Given the description of an element on the screen output the (x, y) to click on. 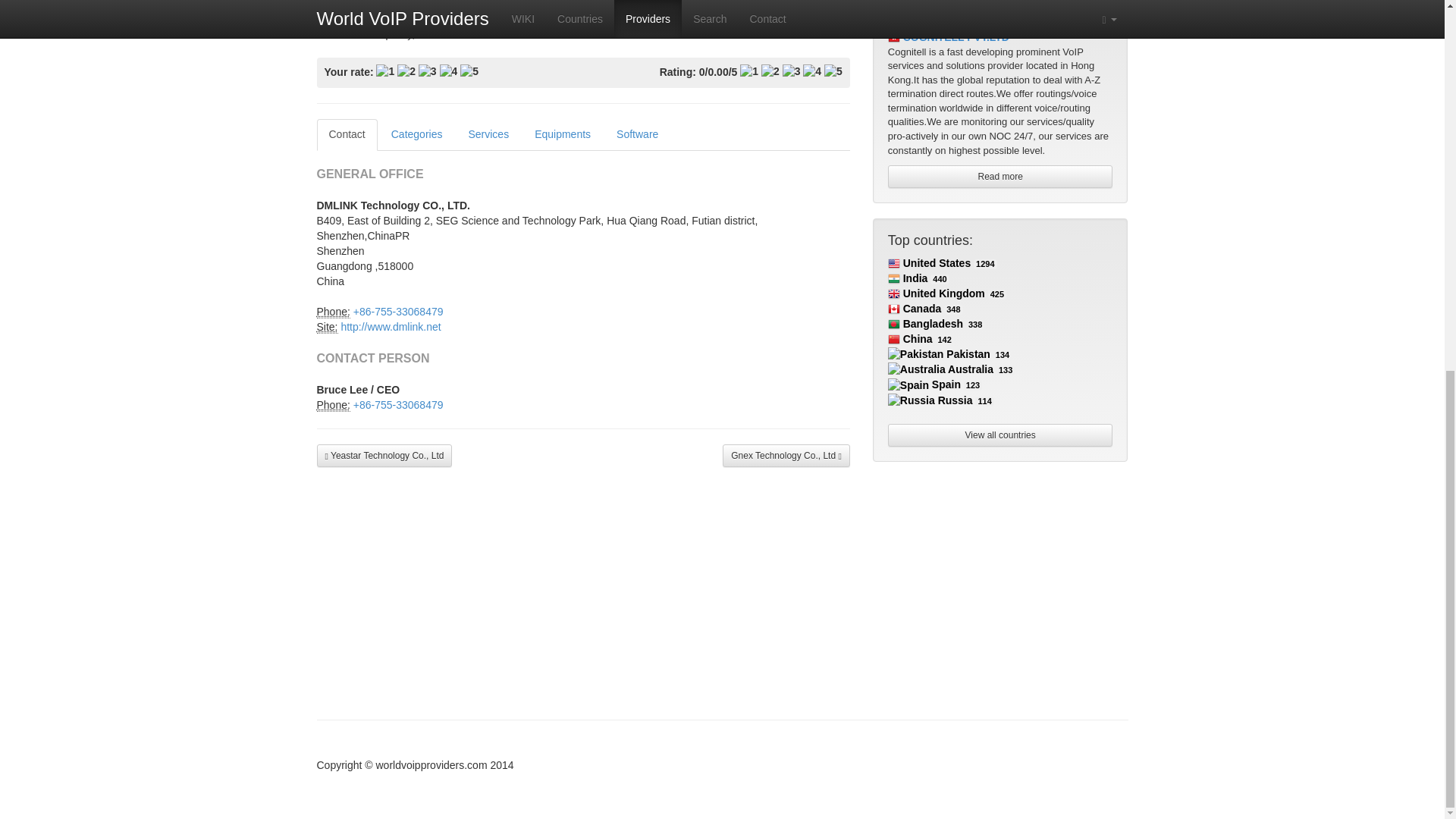
Not rated yet! (718, 72)
Software (636, 134)
Spain (924, 384)
Not rated yet! (791, 71)
India (908, 277)
Services (488, 134)
2 (405, 71)
Categories (416, 134)
United Kingdom (936, 293)
Bangladesh (925, 323)
Not rated yet! (748, 71)
Not rated yet! (812, 71)
Not rated yet! (833, 71)
3 (427, 71)
1 (384, 71)
